Given the description of an element on the screen output the (x, y) to click on. 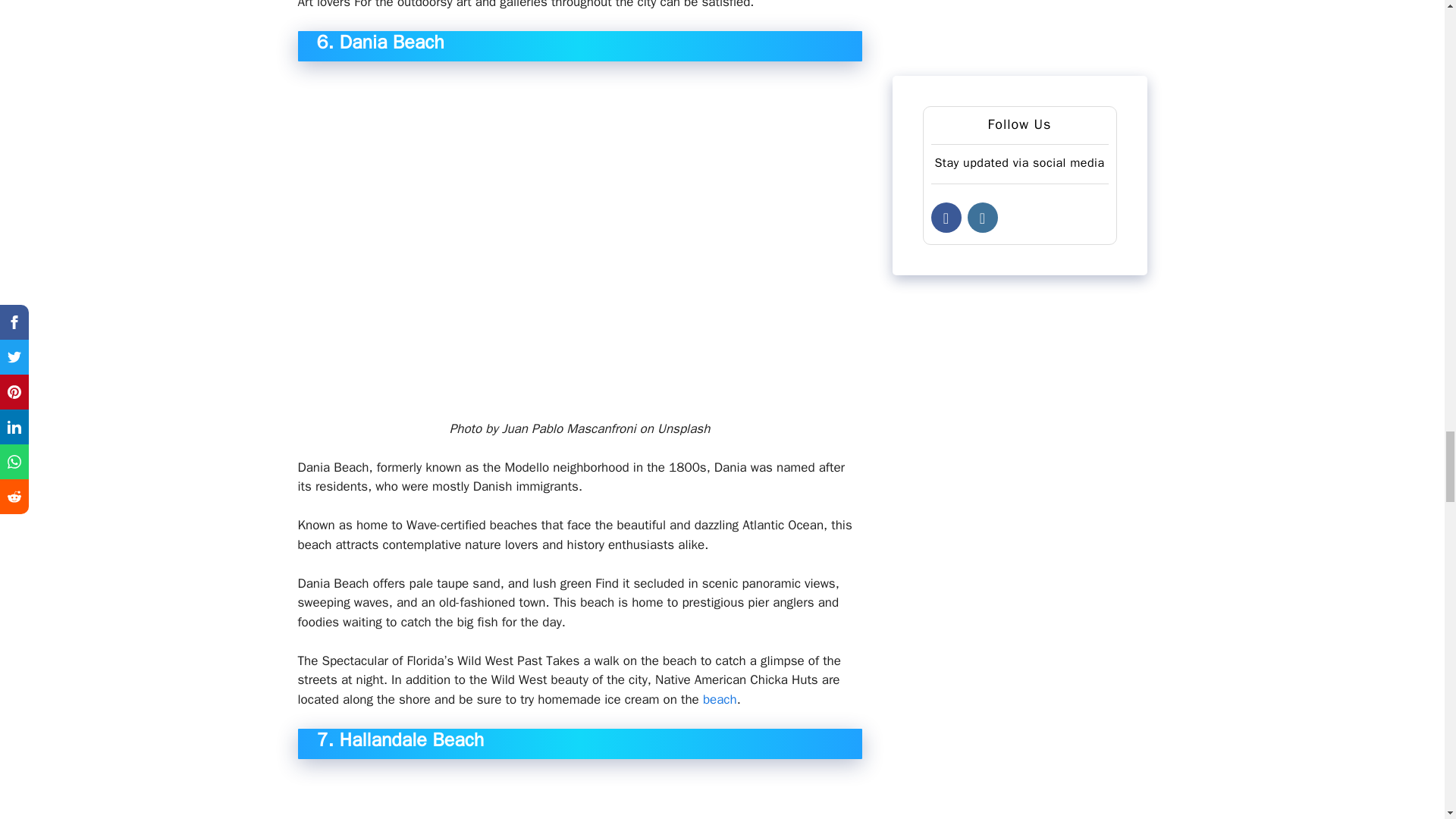
Best Beaches In Fort Lauderdale 8 (579, 796)
